Given the description of an element on the screen output the (x, y) to click on. 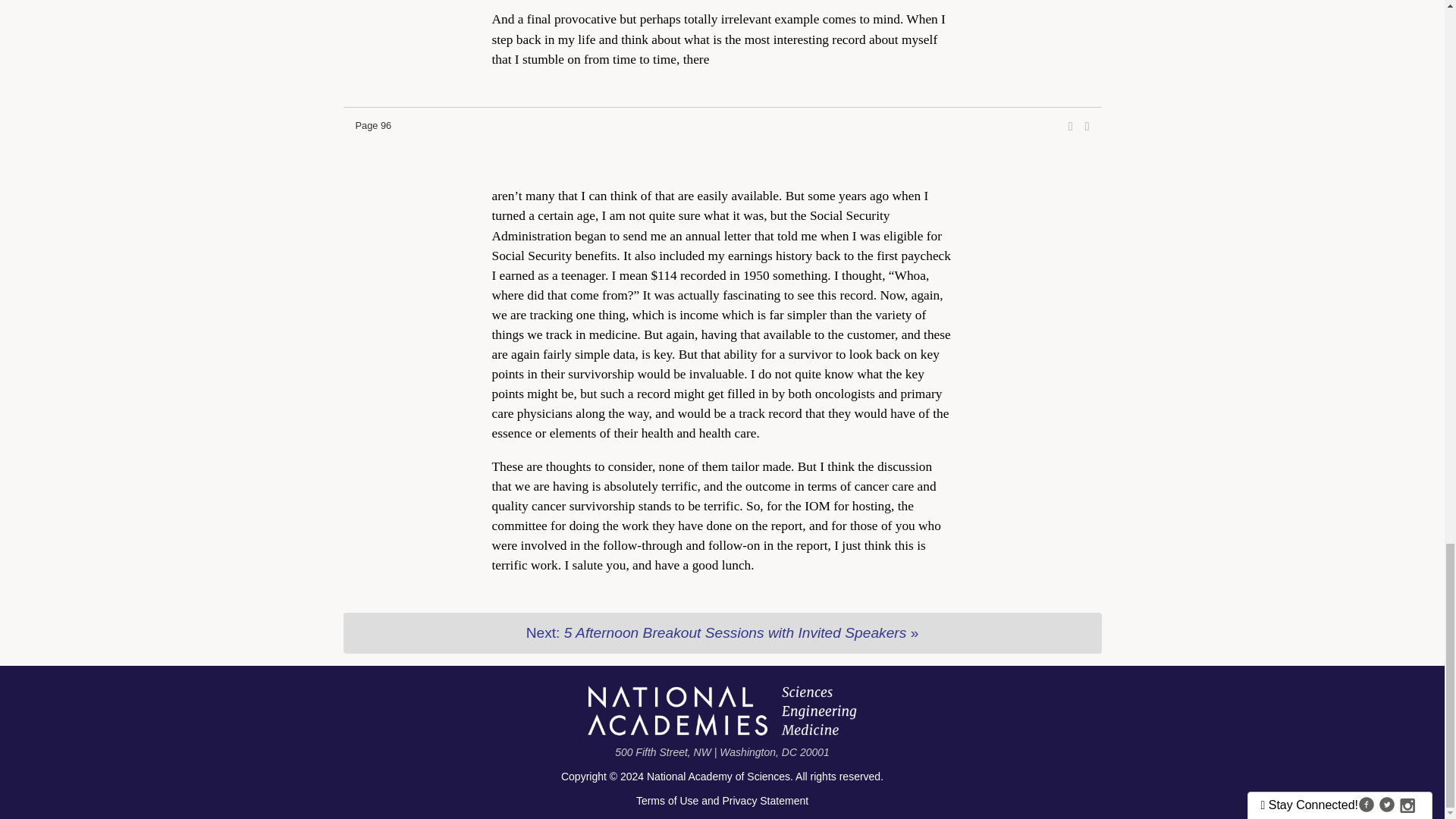
Next Chapter (721, 632)
